Given the description of an element on the screen output the (x, y) to click on. 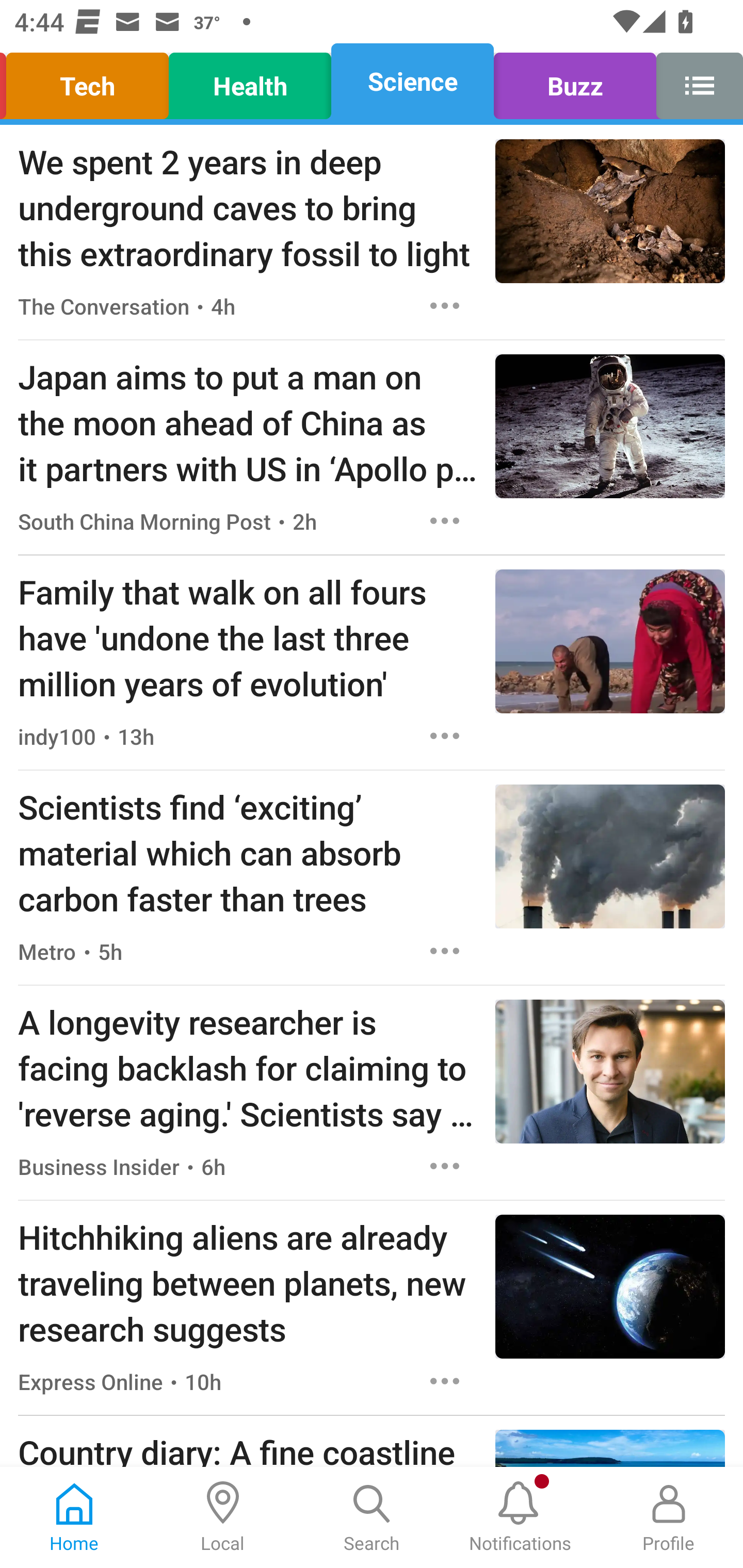
Tech (89, 81)
Health (249, 81)
Science (412, 81)
Buzz (574, 81)
 (694, 81)
Options (444, 305)
Options (444, 520)
Options (444, 736)
Options (444, 950)
Options (444, 1166)
Options (444, 1381)
Local (222, 1517)
Search (371, 1517)
Notifications, New notification Notifications (519, 1517)
Profile (668, 1517)
